Given the description of an element on the screen output the (x, y) to click on. 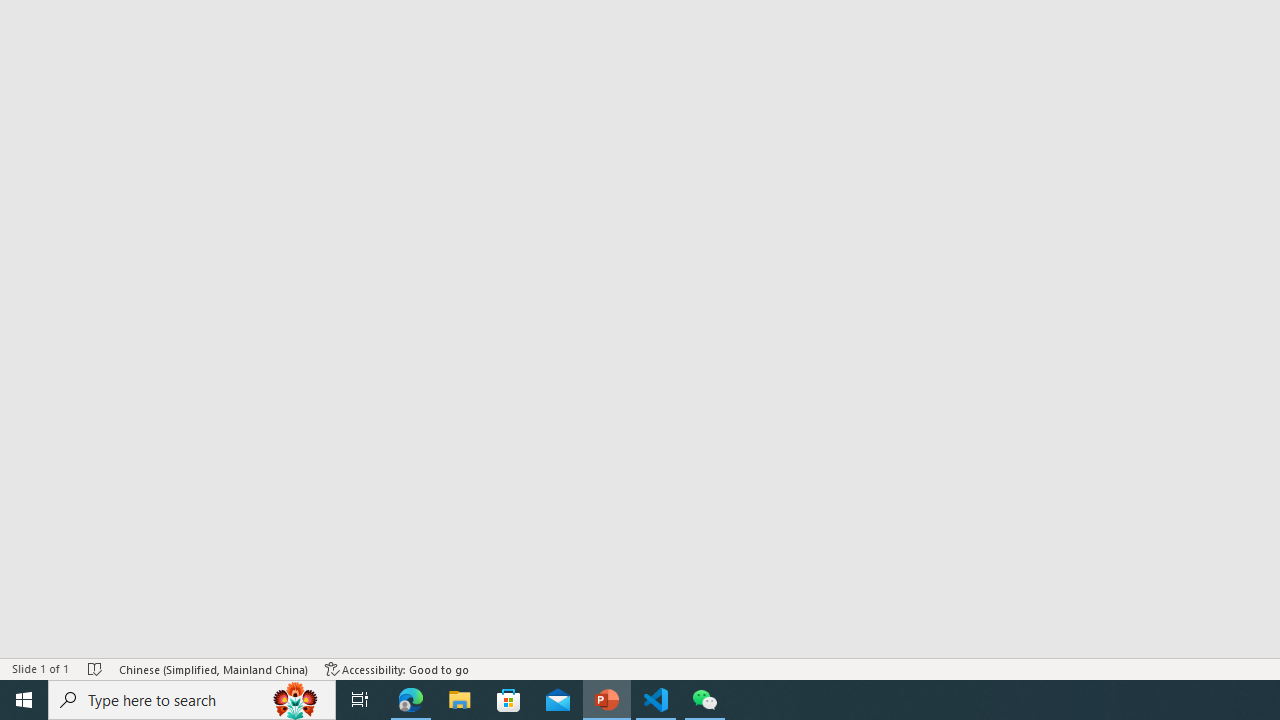
Spell Check No Errors (95, 668)
Accessibility Checker Accessibility: Good to go (397, 668)
